Given the description of an element on the screen output the (x, y) to click on. 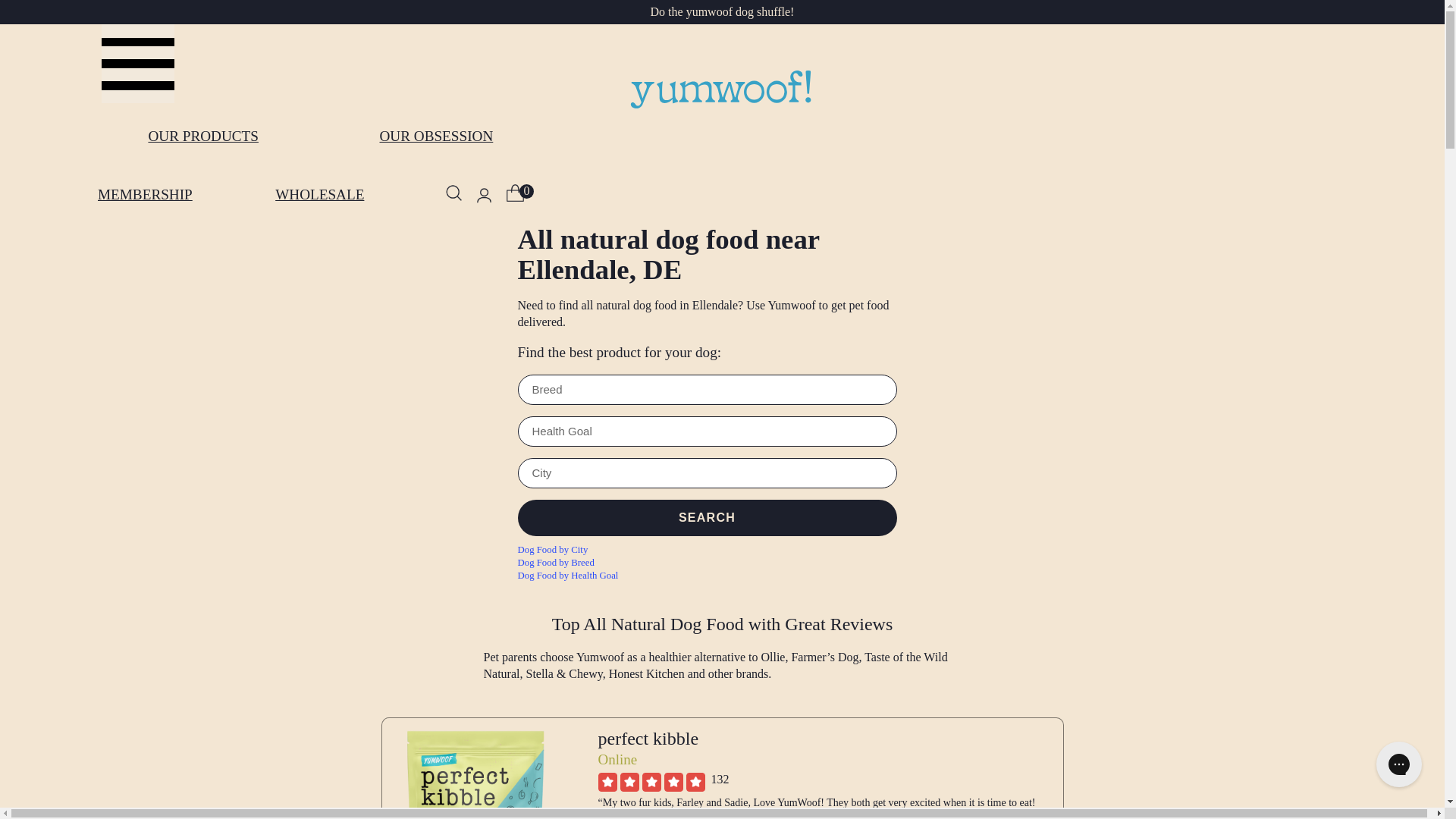
Search (706, 518)
Dog Food by City (721, 549)
Do the yumwoof dog shuffle! (722, 11)
Dog Food by Breed (721, 562)
WHOLESALE (319, 195)
OUR OBSESSION (435, 136)
Gorgias live chat messenger (1398, 764)
OUR PRODUCTS (202, 136)
Dog Food by Health Goal (721, 575)
MEMBERSHIP (144, 195)
Search (706, 518)
